Given the description of an element on the screen output the (x, y) to click on. 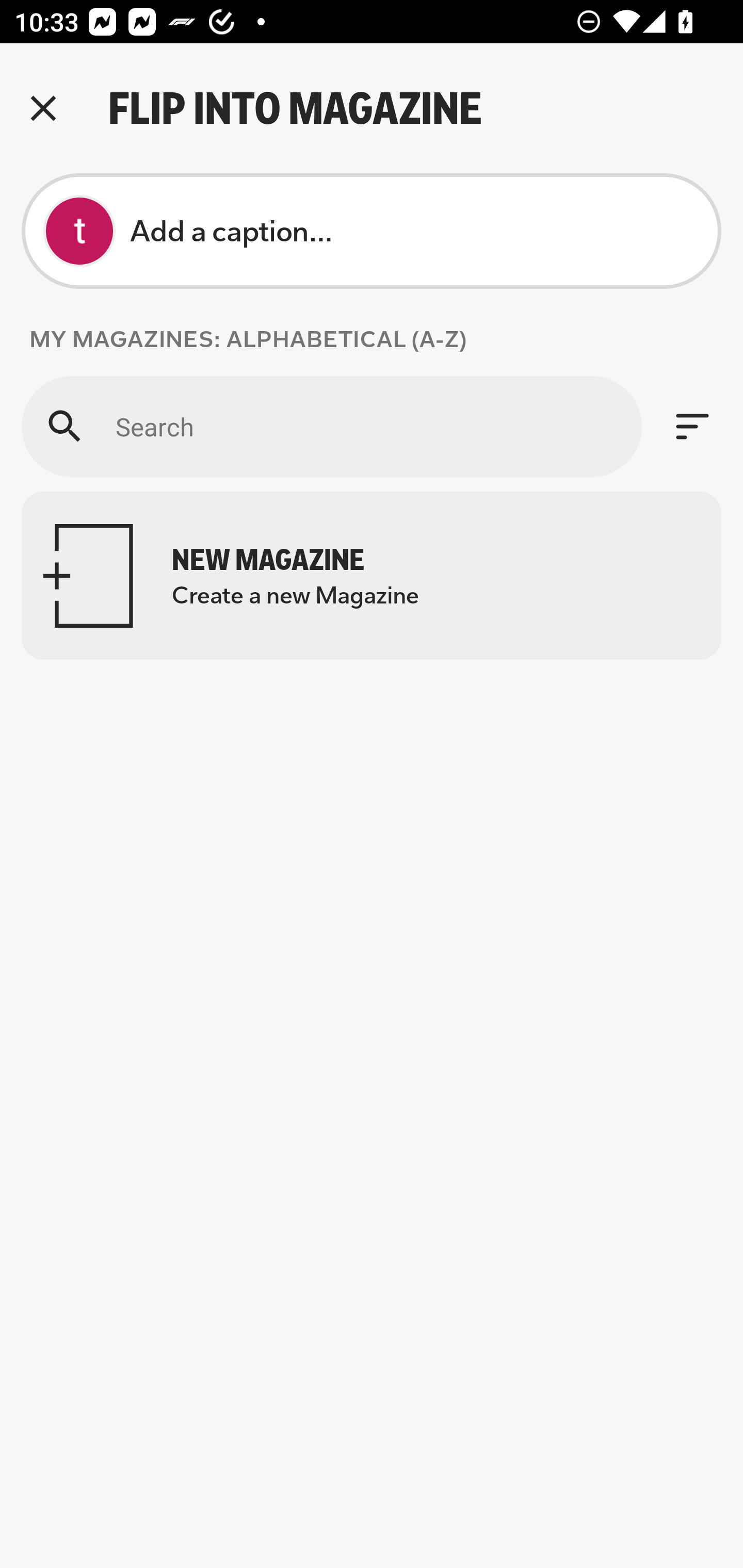
test appium Add a caption… (371, 231)
Search (331, 426)
NEW MAGAZINE Create a new Magazine (371, 575)
